Given the description of an element on the screen output the (x, y) to click on. 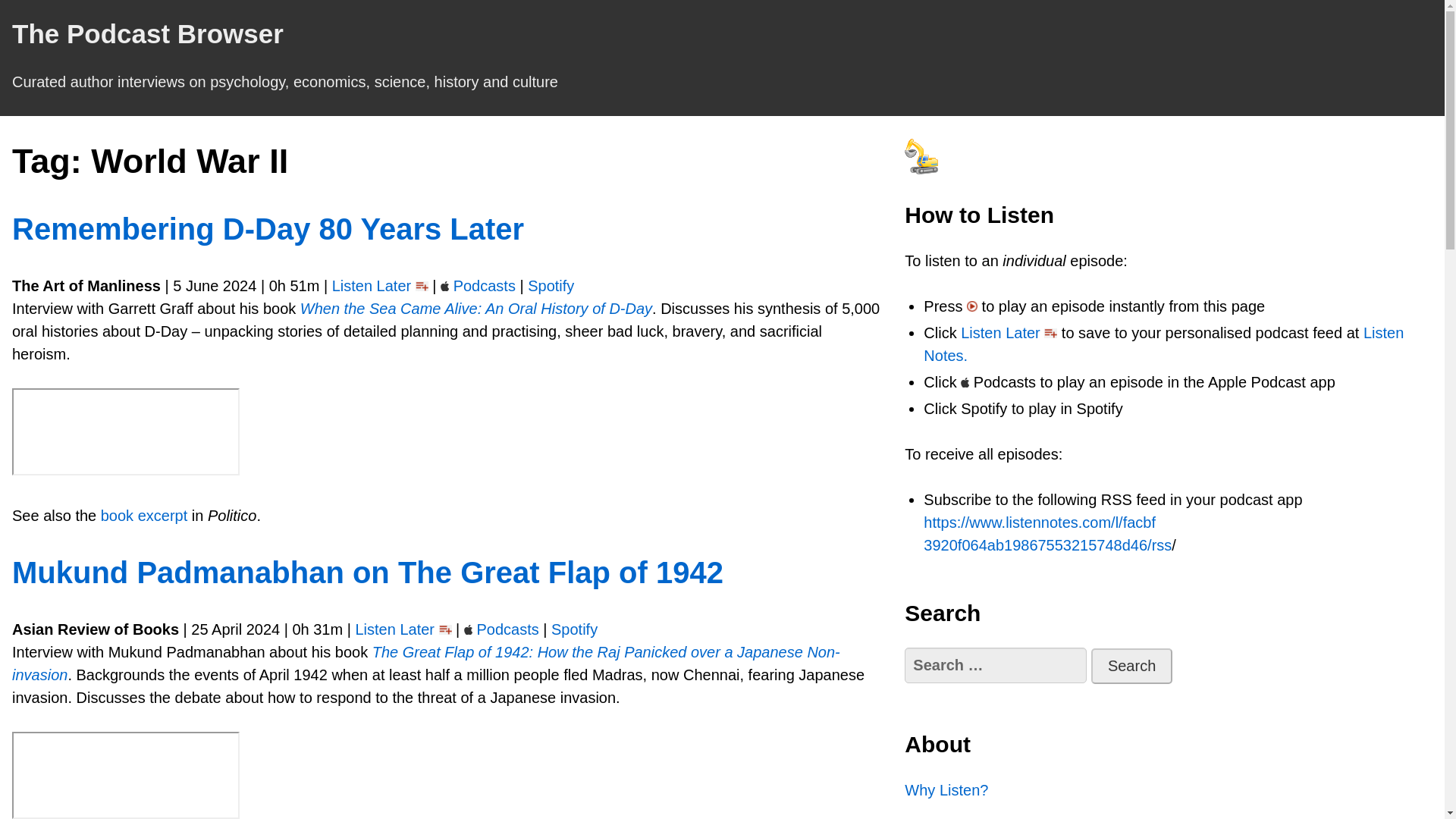
Listen Later (371, 285)
The Podcast Browser (147, 33)
Remembering D-Day 80 Years Later (267, 228)
book excerpt (143, 515)
Search (1131, 665)
Podcasts (507, 629)
Search (1131, 665)
When the Sea Came Alive: An Oral History of D-Day (475, 308)
Listen Later (394, 629)
Podcasts (483, 285)
Spotify (550, 285)
Mukund Padmanabhan on The Great Flap of 1942 (367, 572)
Spotify (573, 629)
